Given the description of an element on the screen output the (x, y) to click on. 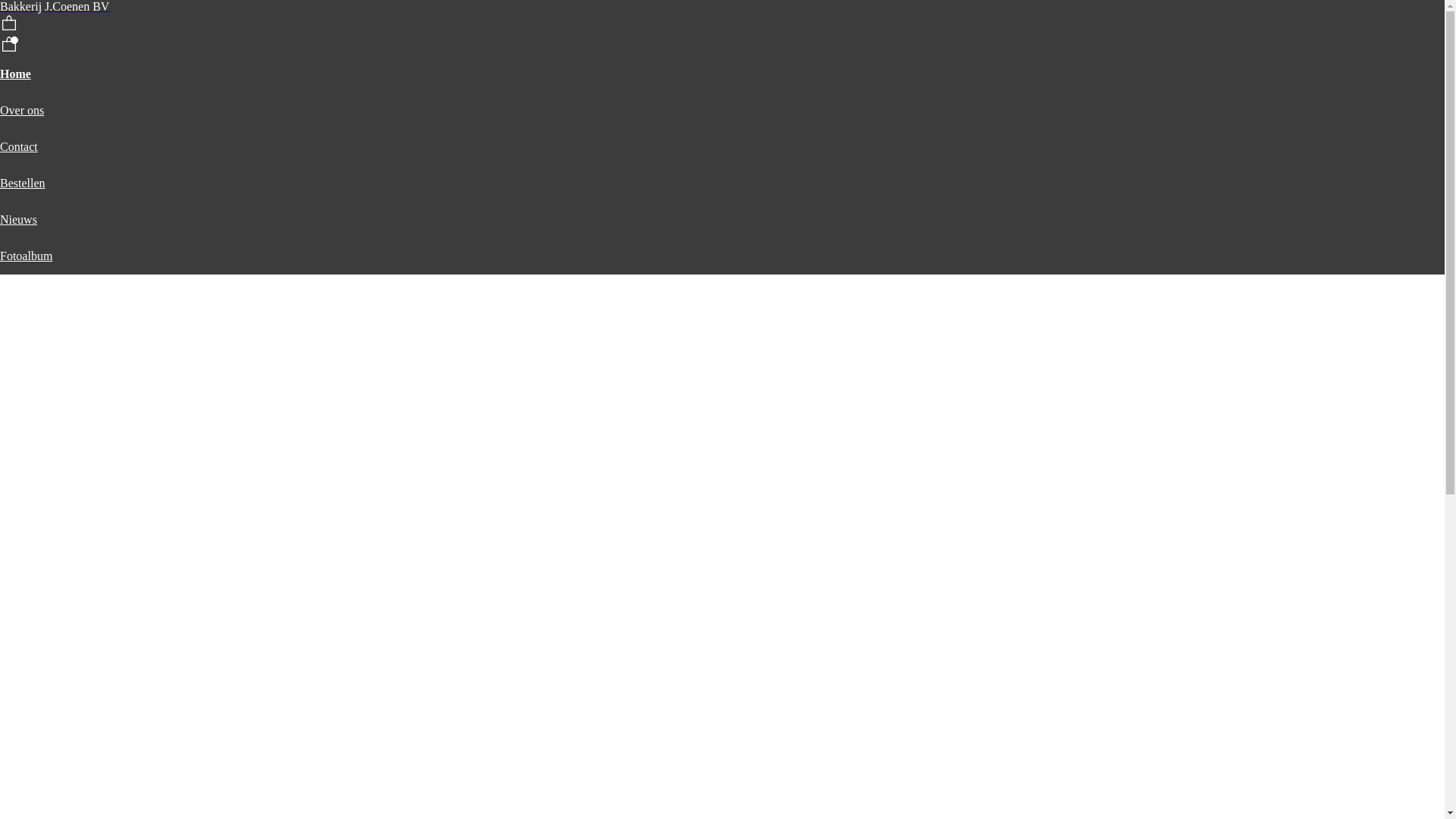
Home Element type: text (15, 73)
Over ons Element type: text (21, 109)
Bestellen Element type: text (22, 182)
Fotoalbum Element type: text (26, 255)
Bakkerij J.Coenen BV Element type: text (54, 6)
Contact Element type: text (18, 146)
Nieuws Element type: text (18, 219)
